Given the description of an element on the screen output the (x, y) to click on. 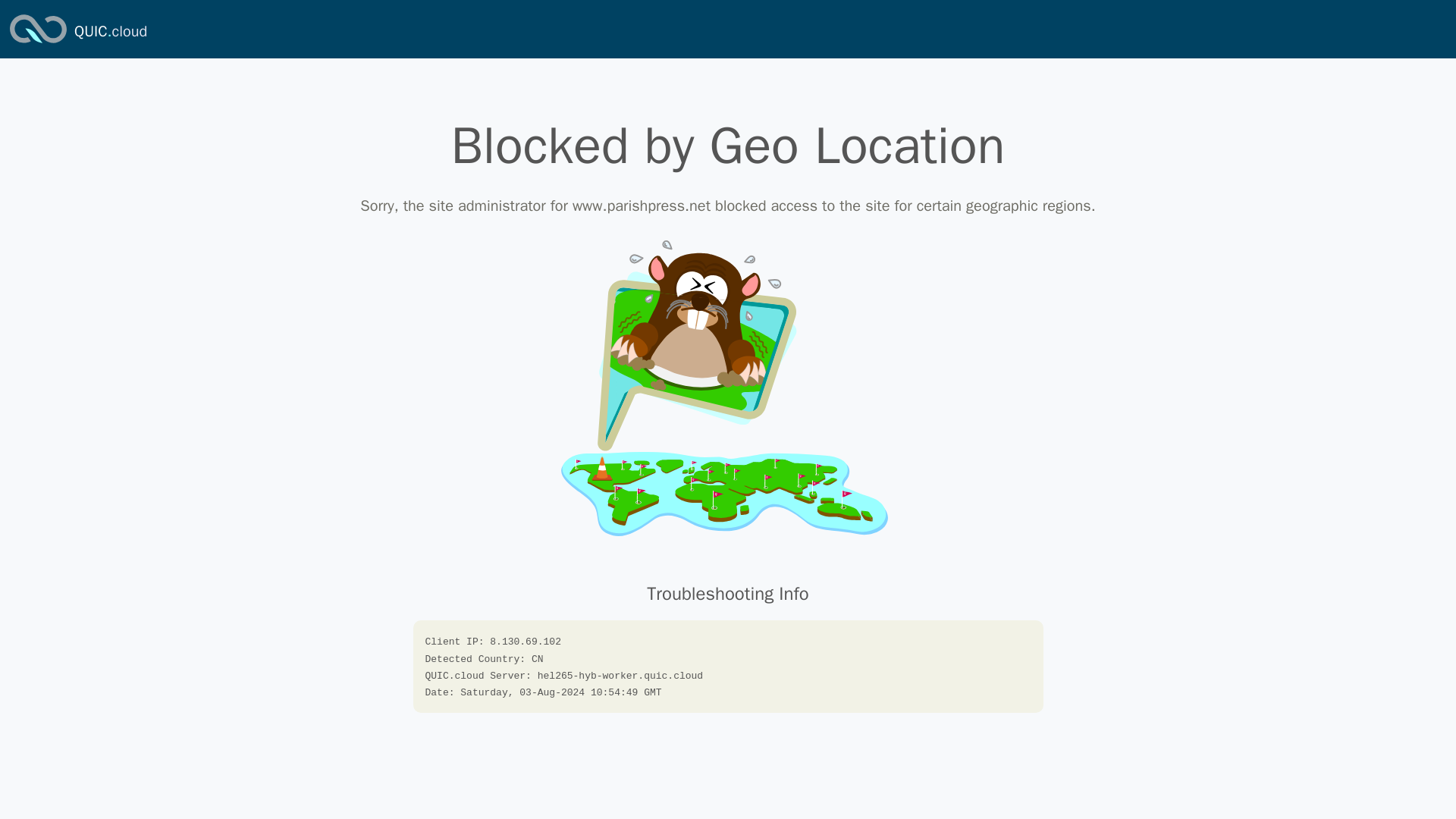
QUIC.cloud (110, 31)
QUIC.cloud (110, 31)
QUIC.cloud (37, 43)
